Given the description of an element on the screen output the (x, y) to click on. 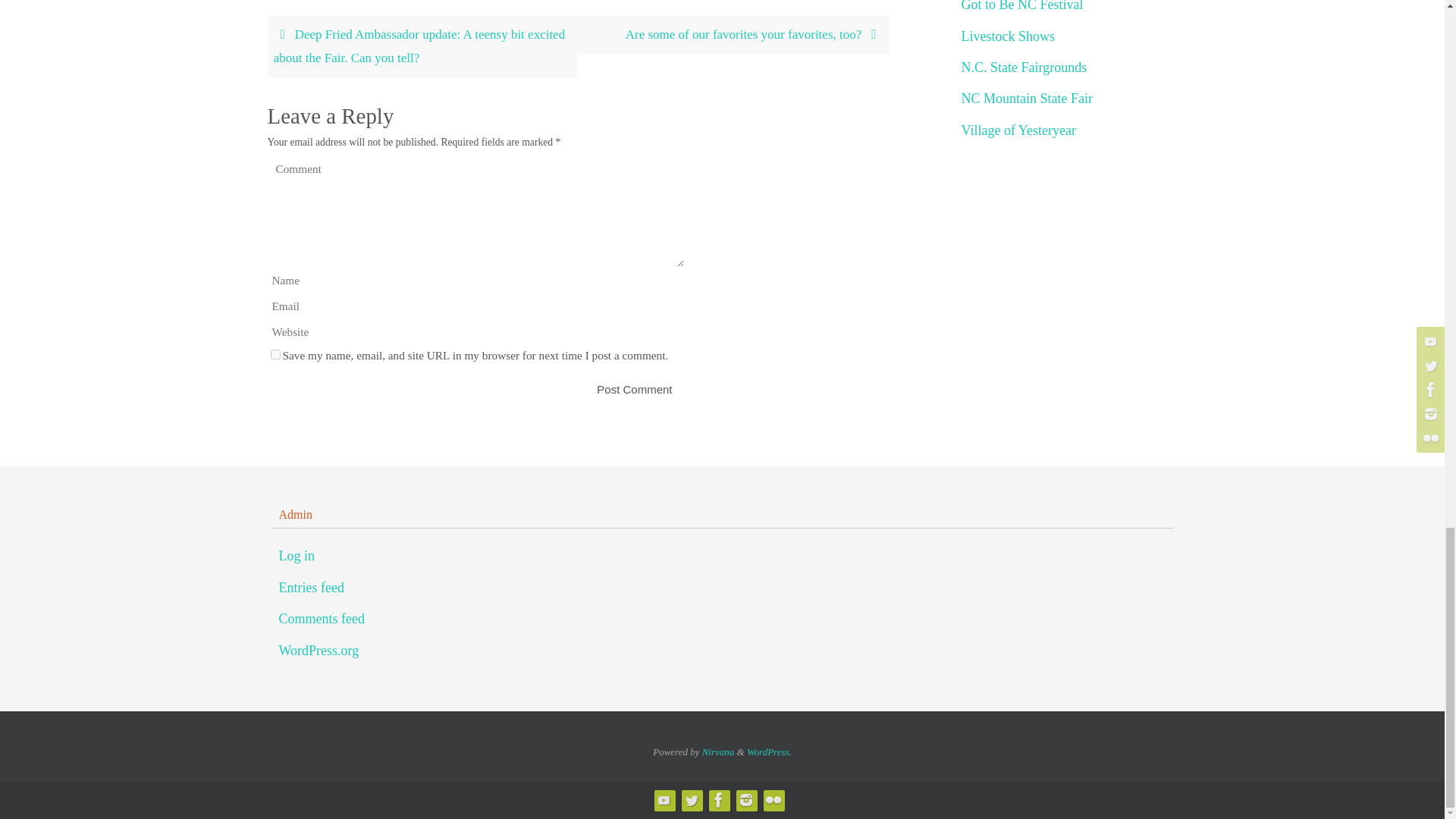
Post Comment (634, 389)
Are some of our favorites your favorites, too? (733, 34)
yes (274, 354)
Post Comment (634, 389)
